Given the description of an element on the screen output the (x, y) to click on. 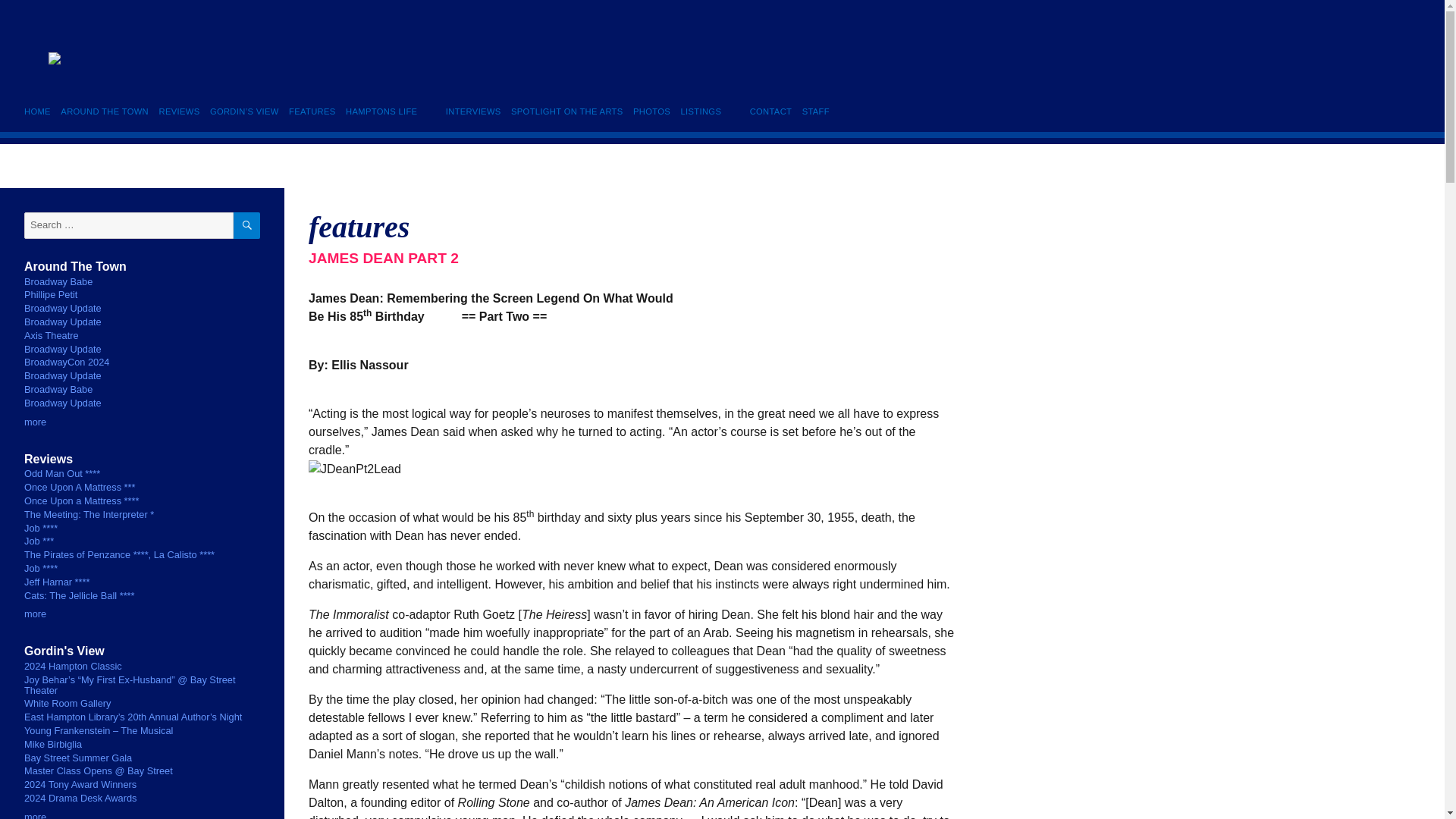
INTERVIEWS (473, 111)
HAMPTONS LIFE (381, 111)
FEATURES (311, 111)
AROUND THE TOWN (105, 111)
HOME (40, 111)
STAFF (815, 111)
CONTACT (770, 111)
REVIEWS (179, 111)
SPOTLIGHT ON THE ARTS (566, 111)
PHOTOS (651, 111)
